Given the description of an element on the screen output the (x, y) to click on. 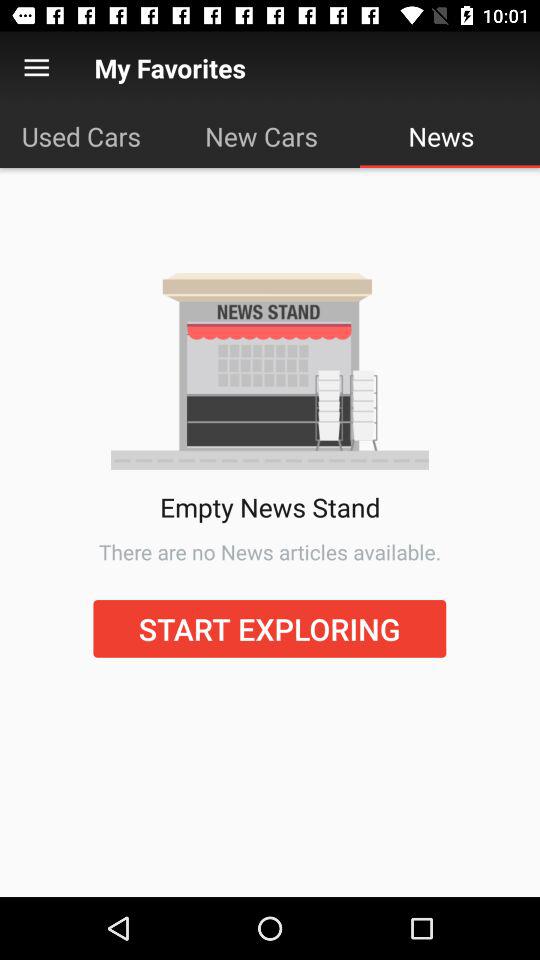
jump to the start exploring (269, 628)
